Given the description of an element on the screen output the (x, y) to click on. 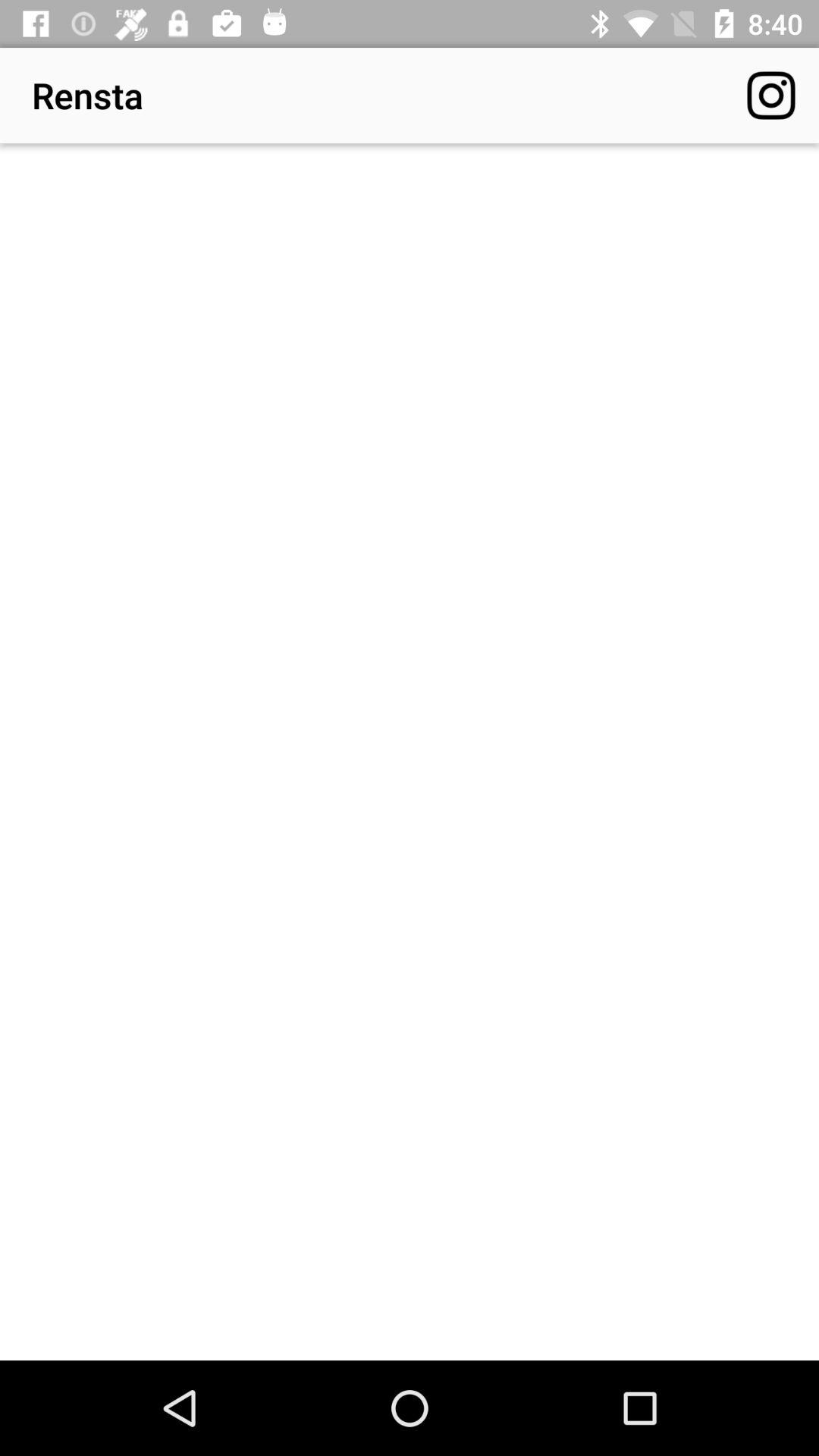
click item to the right of rensta icon (771, 95)
